Given the description of an element on the screen output the (x, y) to click on. 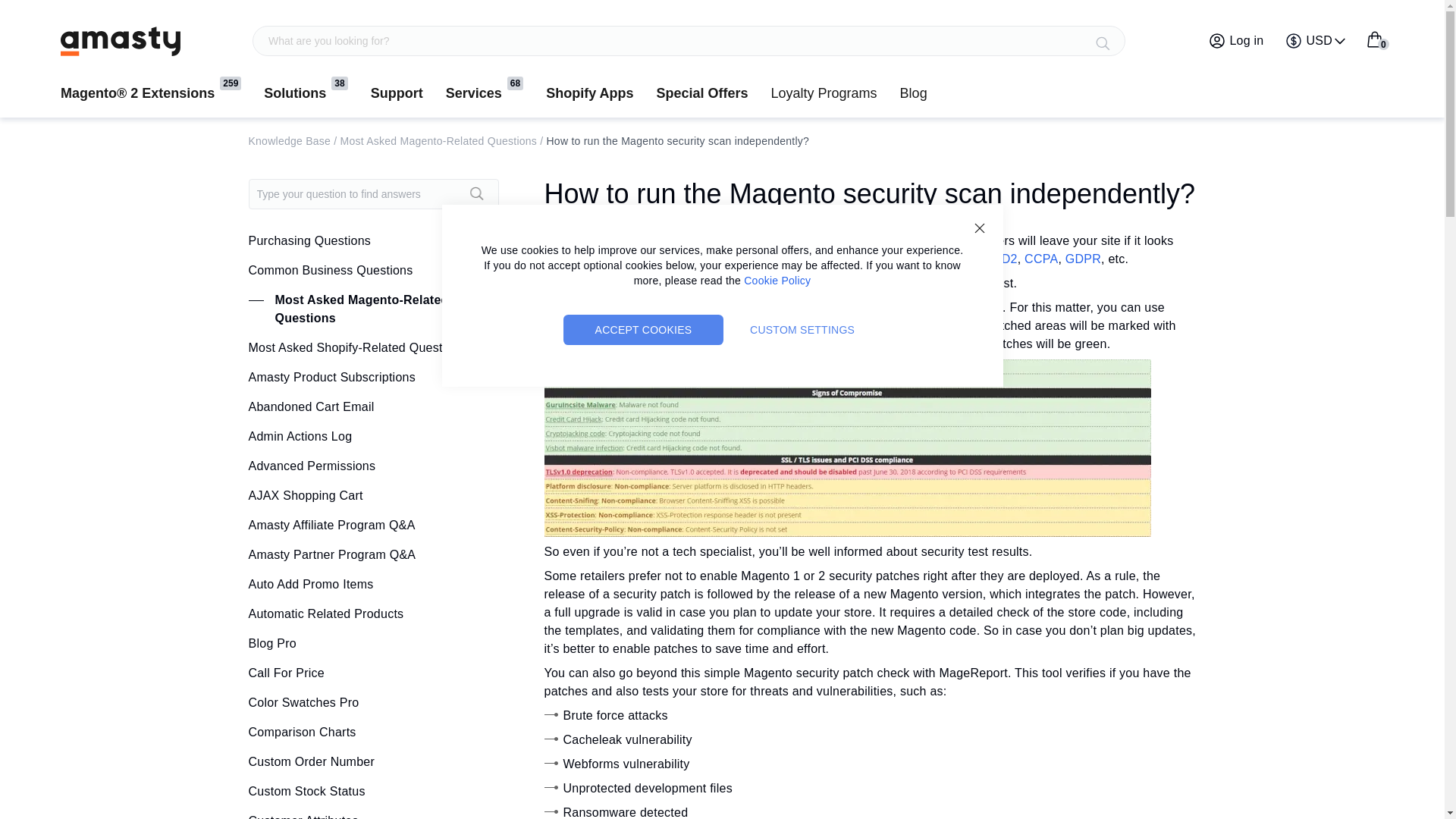
1 (120, 40)
CUSTOM SETTINGS (801, 329)
USD (1316, 40)
Close (1374, 39)
Log in (978, 228)
Cookie Policy (1235, 40)
shopping-bag (777, 280)
Cookie Policy (1374, 39)
ACCEPT COOKIES (777, 280)
